Given the description of an element on the screen output the (x, y) to click on. 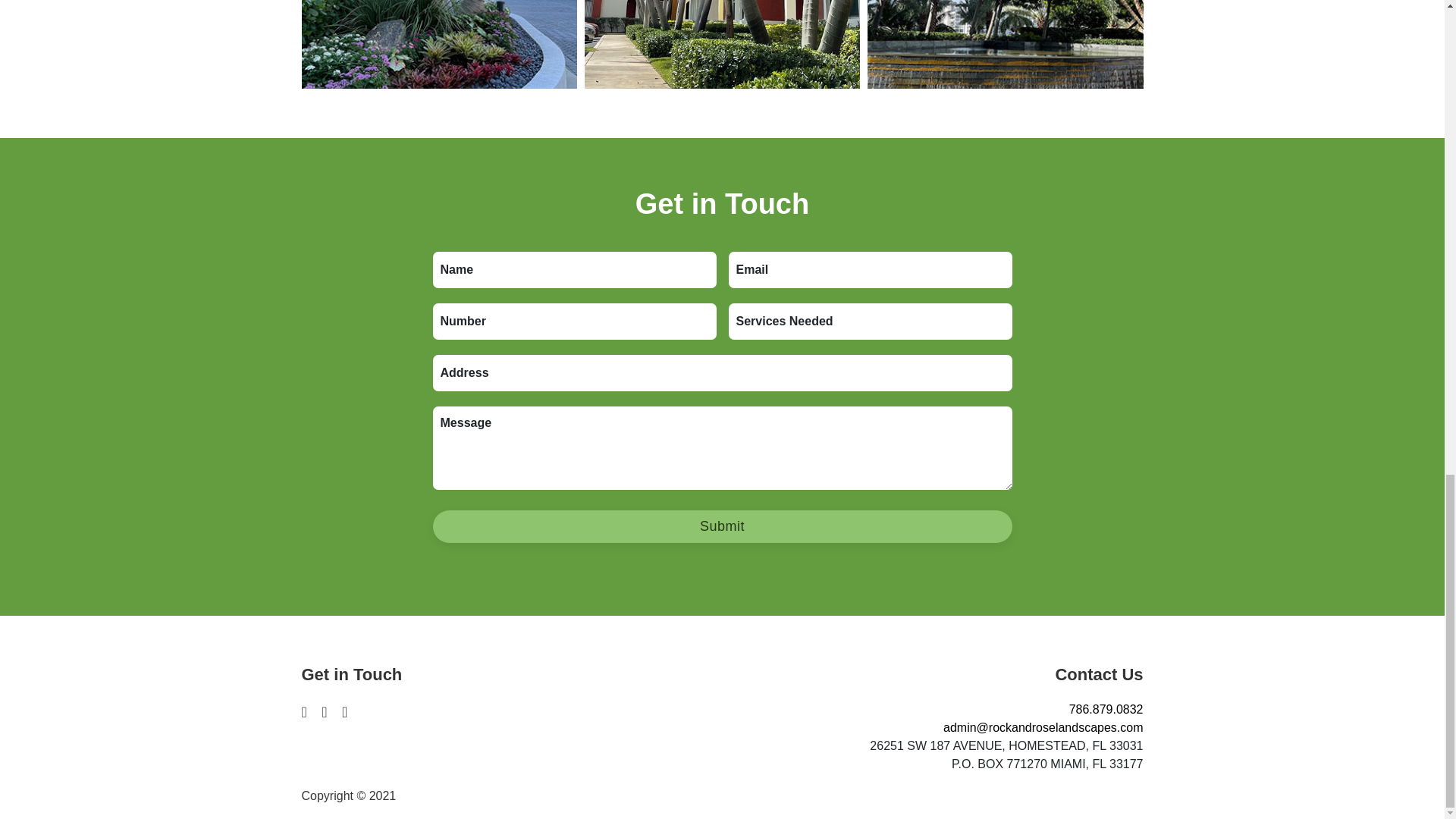
Submit (721, 526)
Submit (721, 526)
786.879.0832 (1105, 708)
